Given the description of an element on the screen output the (x, y) to click on. 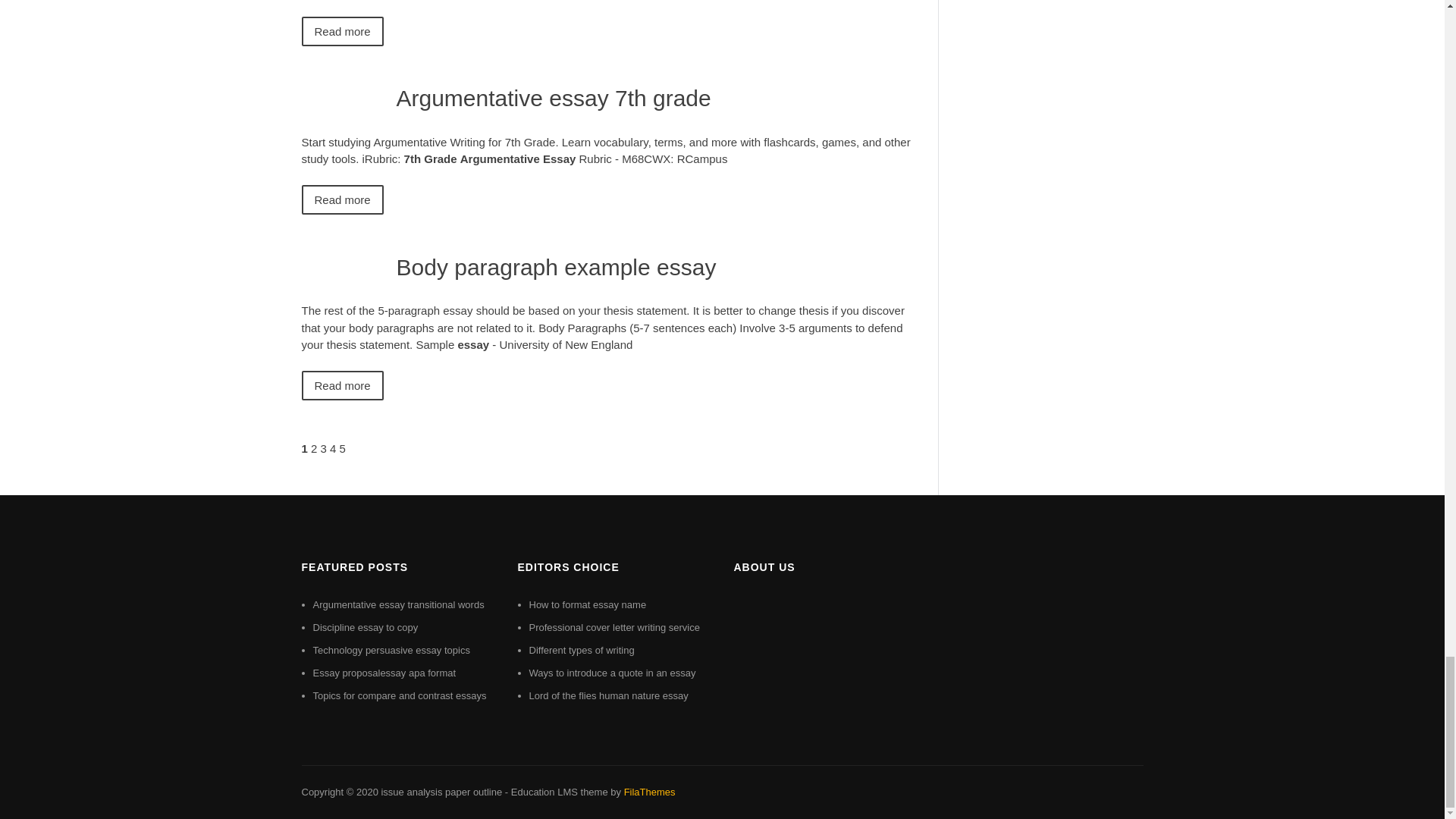
issue analysis paper outline (441, 791)
